Given the description of an element on the screen output the (x, y) to click on. 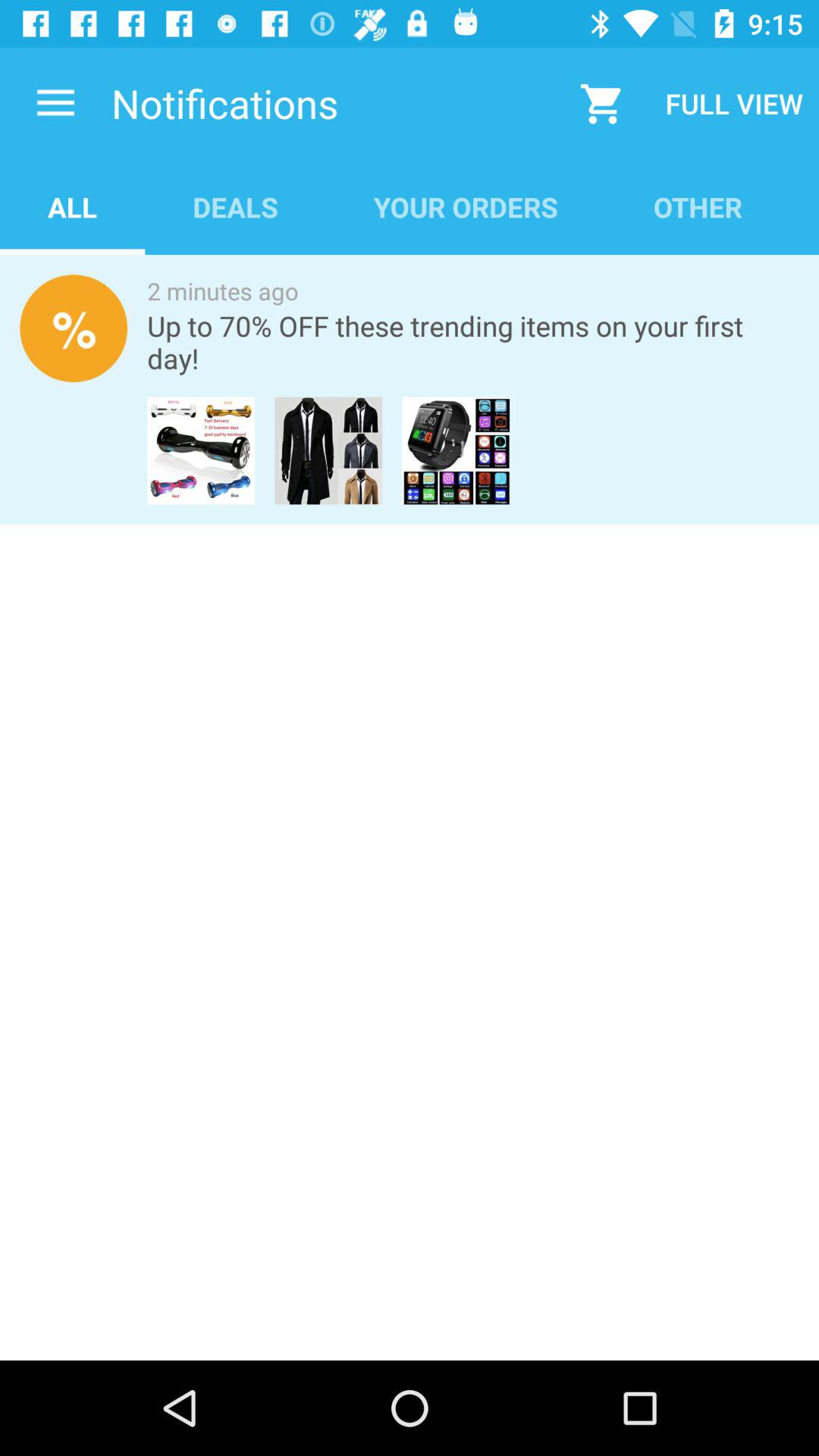
click the icon next to notifications icon (55, 103)
